Given the description of an element on the screen output the (x, y) to click on. 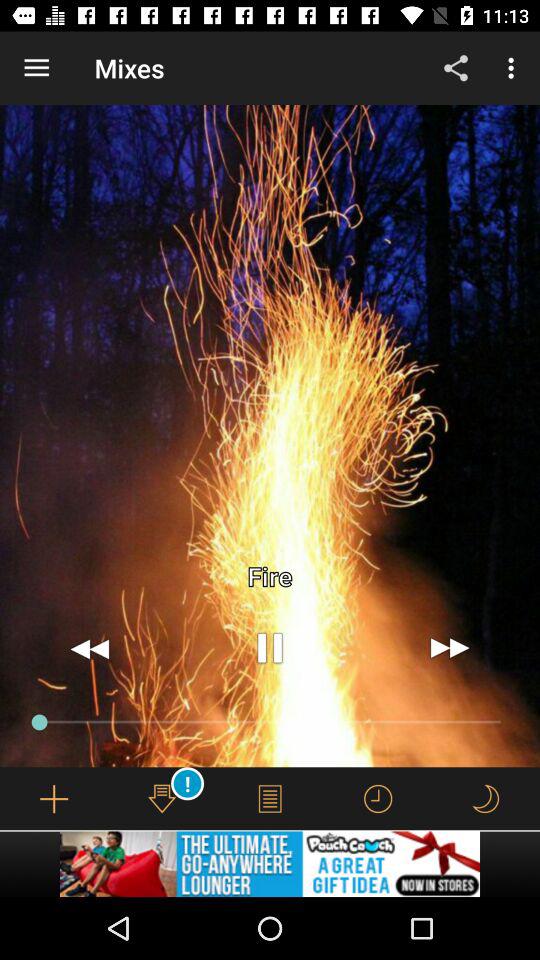
length of video (378, 798)
